Given the description of an element on the screen output the (x, y) to click on. 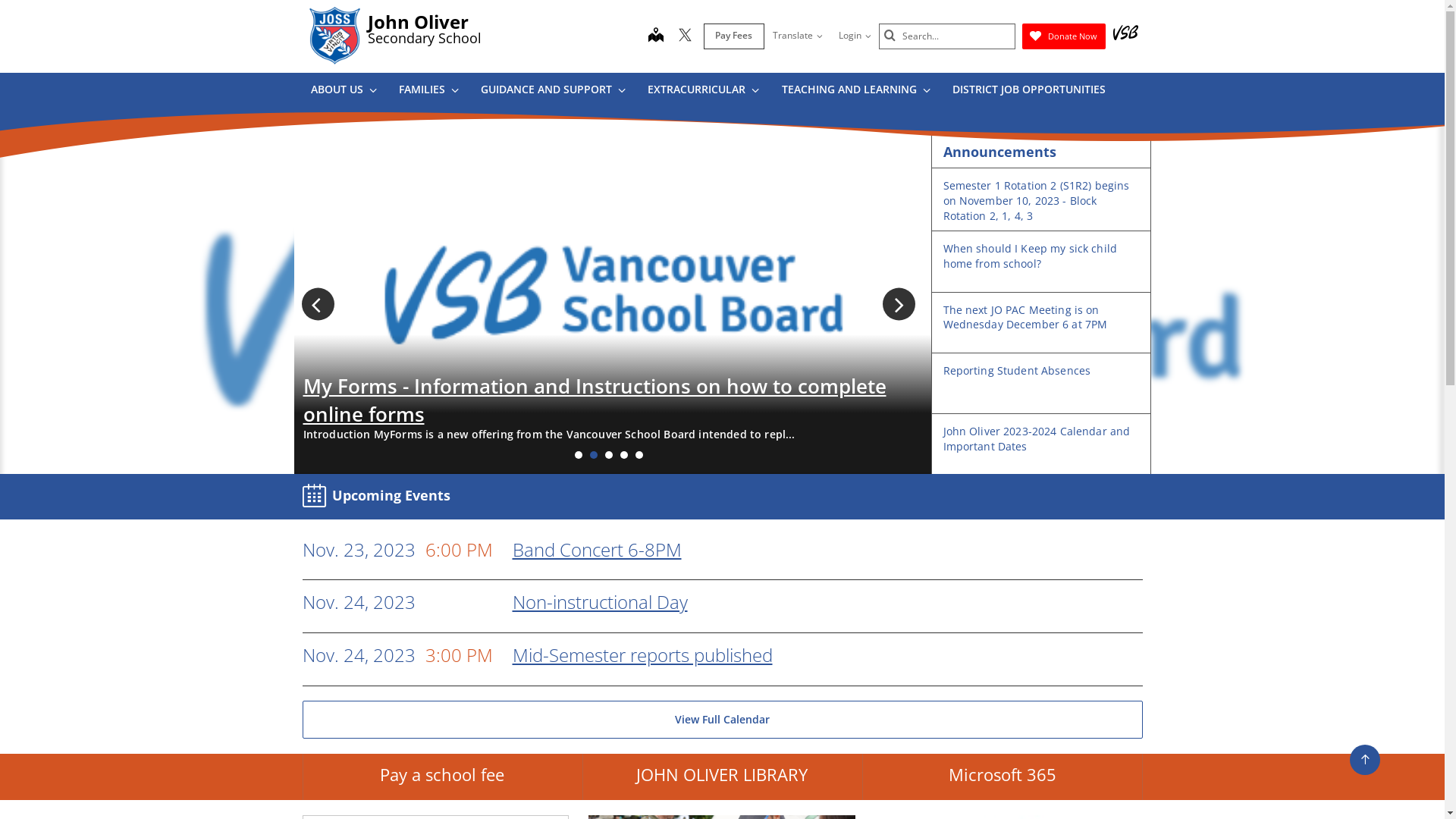
2 Element type: text (593, 454)
TEACHING AND LEARNING Element type: text (855, 91)
Submit Element type: text (889, 35)
Login Element type: text (853, 36)
When should I Keep my sick child home from school? Element type: text (1030, 255)
Mid-Semester reports published Element type: text (642, 654)
John Oliver 2023-2024 Calendar and Important Dates Element type: text (1036, 438)
ABOUT US Element type: text (342, 91)
3 Element type: text (608, 454)
Go to top Element type: text (1364, 759)
Reporting Student Absences Element type: text (1017, 370)
Nov. 24, 2023 Element type: text (357, 602)
John Oliver Element type: text (417, 21)
Band Concert 6-8PM Element type: text (596, 548)
Donate Now Element type: text (1063, 36)
JOHN OLIVER LIBRARY Element type: text (722, 776)
Translate Element type: text (797, 36)
5 Element type: text (639, 454)
Nov. 24, 2023 Element type: text (357, 655)
The next JO PAC Meeting is on Wednesday December 6 at 7PM Element type: text (1025, 317)
1 Element type: text (578, 454)
Microsoft 365 Element type: text (1002, 776)
Nov. 23, 2023 Element type: text (357, 550)
Pay Fees Element type: text (733, 36)
FAMILIES Element type: text (428, 91)
View Full Calendar Element type: text (721, 719)
map Element type: text (654, 36)
DISTRICT JOB OPPORTUNITIES Element type: text (1028, 91)
Non-instructional Day Element type: text (599, 601)
EXTRACURRICULAR Element type: text (702, 91)
Pay a school fee Element type: text (441, 776)
GUIDANCE AND SUPPORT Element type: text (552, 91)
Upcoming Events Element type: text (379, 496)
4 Element type: text (623, 454)
